Given the description of an element on the screen output the (x, y) to click on. 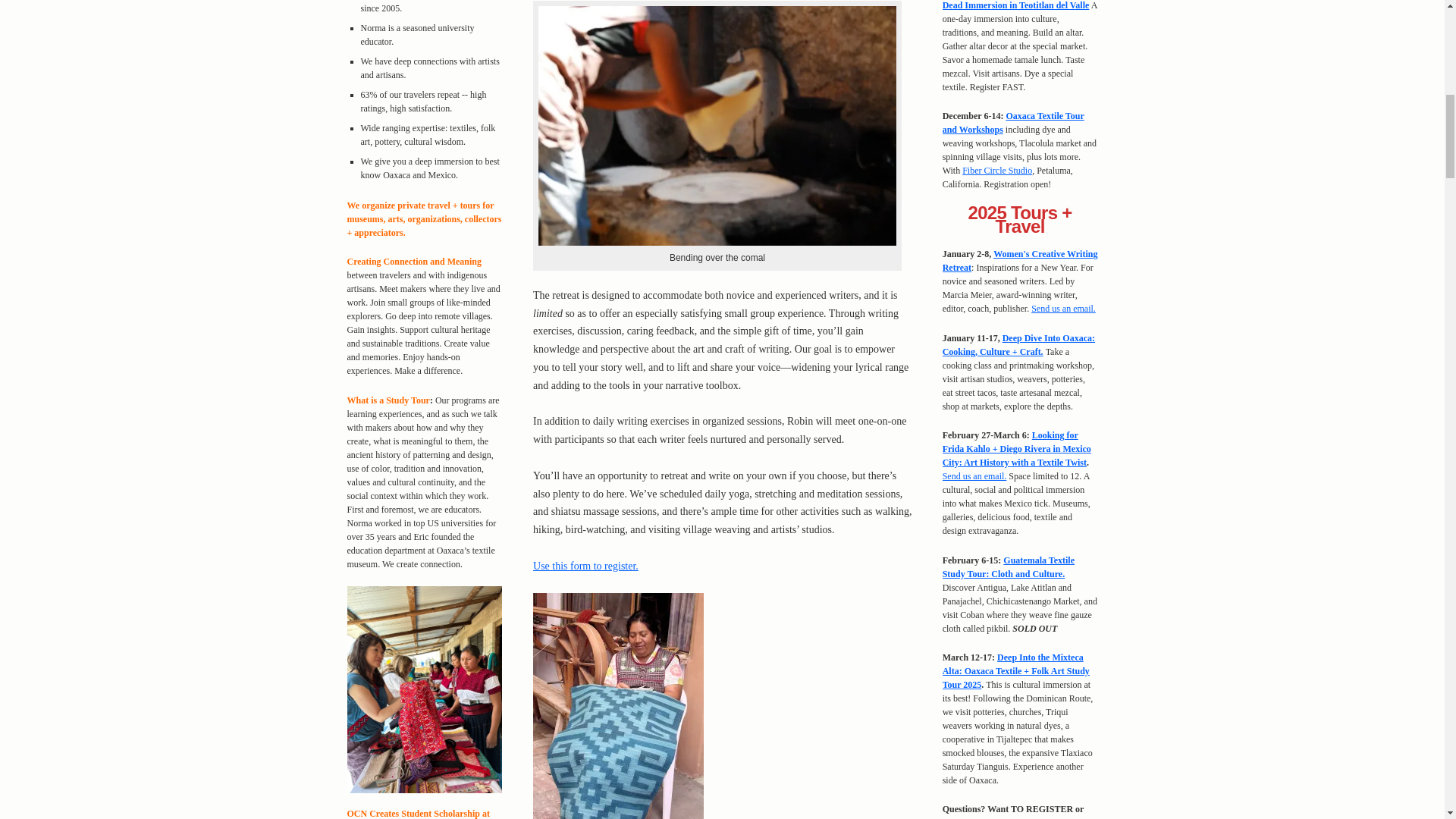
Use this form to register. (585, 565)
Use this form to register. (585, 565)
Tortilla Maker (717, 125)
